Given the description of an element on the screen output the (x, y) to click on. 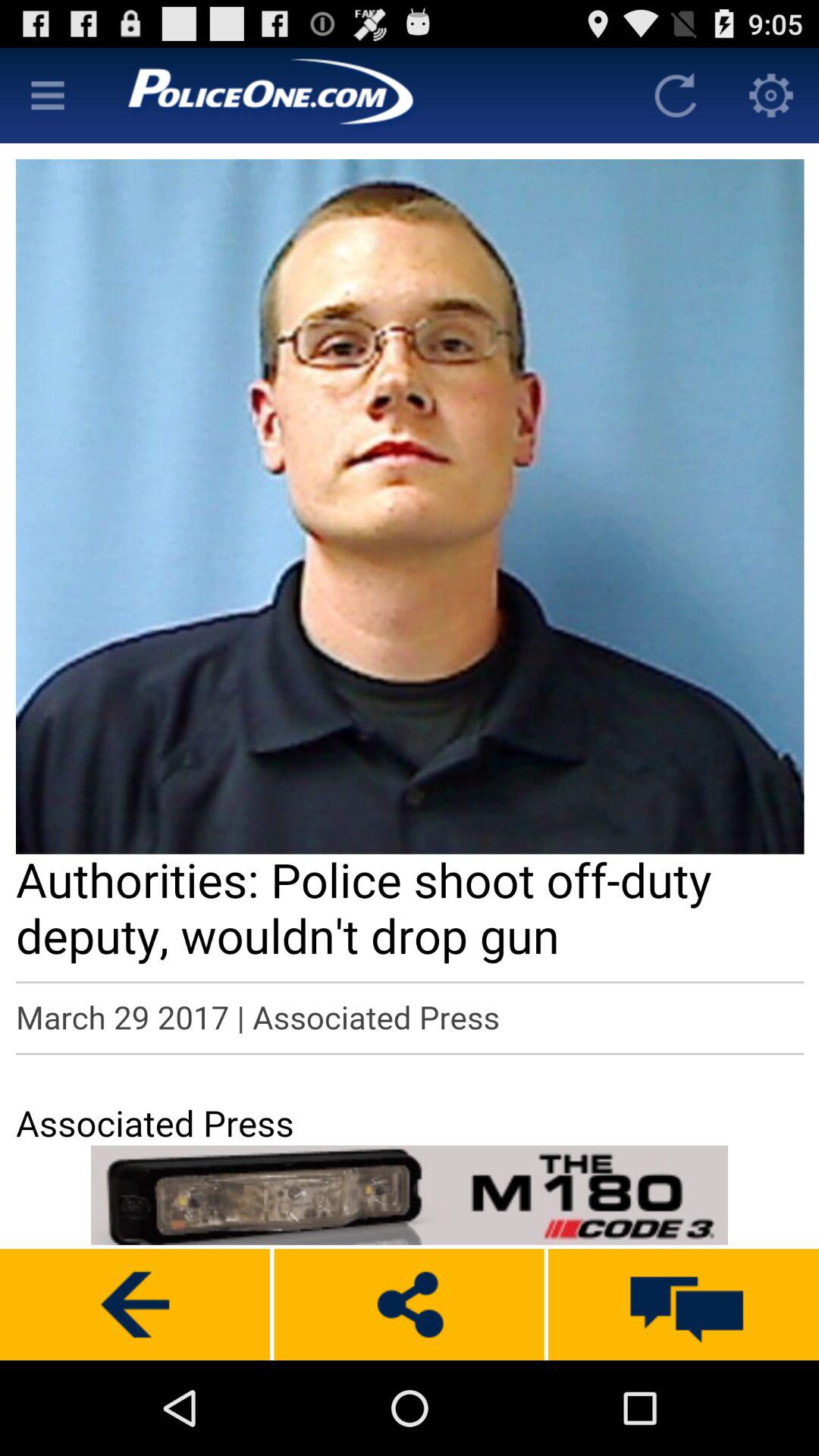
visit advertisement (409, 1194)
